Given the description of an element on the screen output the (x, y) to click on. 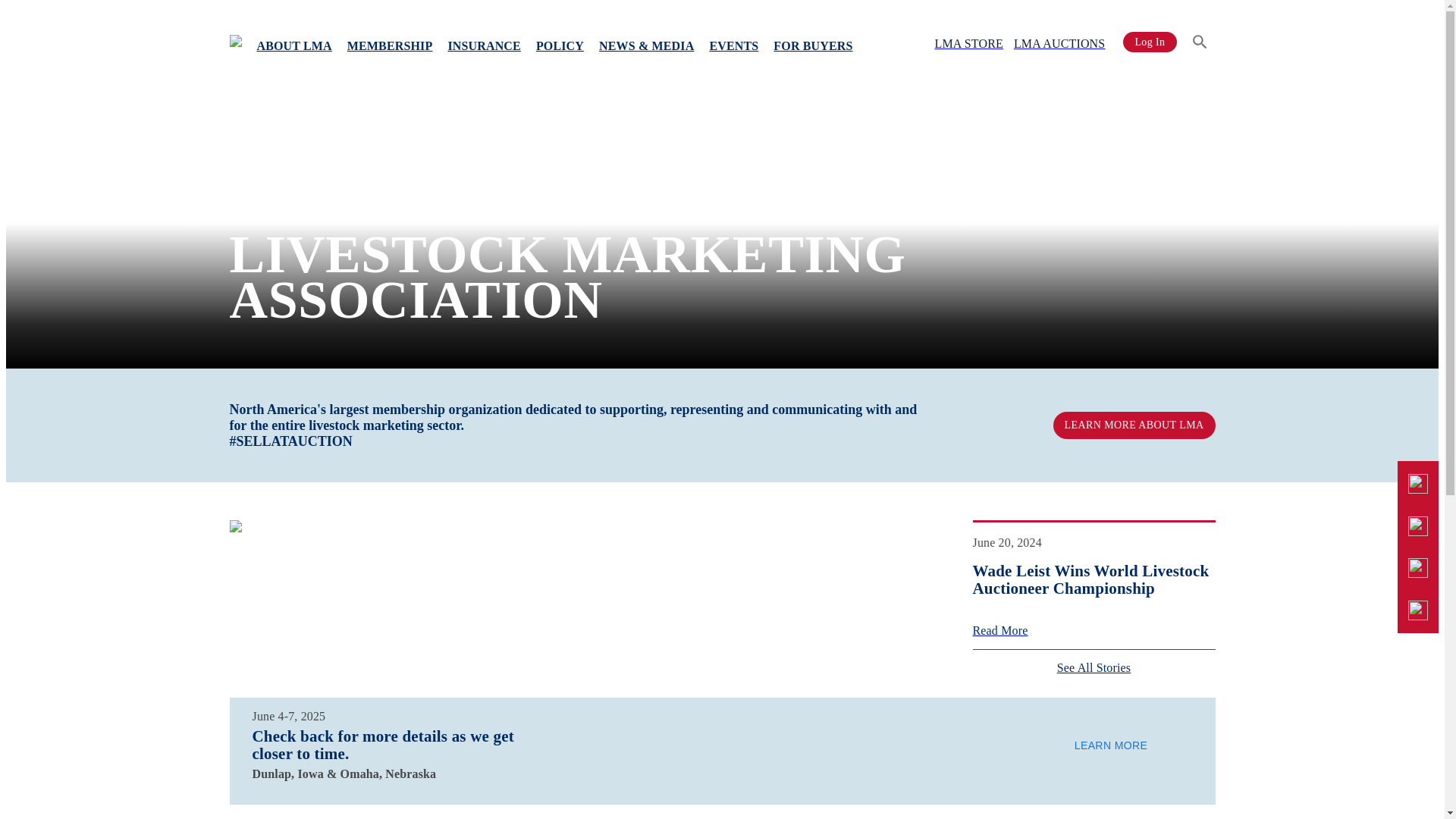
Log In (1149, 41)
Read More (1093, 631)
MEMBERSHIP (390, 43)
INSURANCE (483, 43)
FOR BUYERS (812, 43)
LEARN MORE ABOUT LMA (1133, 425)
See All Stories (1094, 667)
LEARN MORE (1110, 744)
LMA STORE (967, 42)
LMA AUCTIONS (1059, 42)
ABOUT LMA (293, 43)
